Given the description of an element on the screen output the (x, y) to click on. 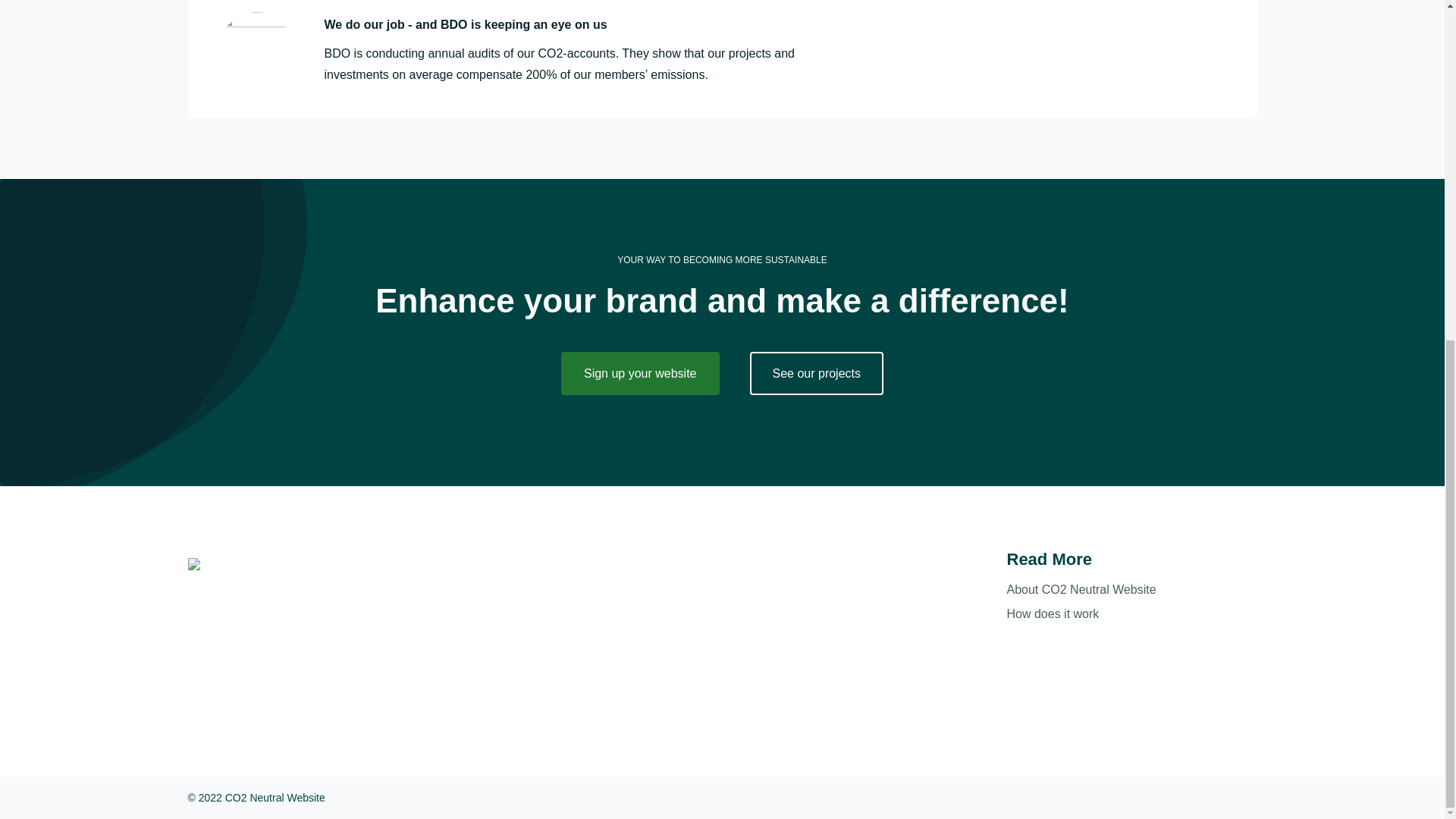
See our projects (816, 373)
Sign up your website (639, 373)
About CO2 Neutral Website (1132, 589)
How does it work (1132, 613)
